Given the description of an element on the screen output the (x, y) to click on. 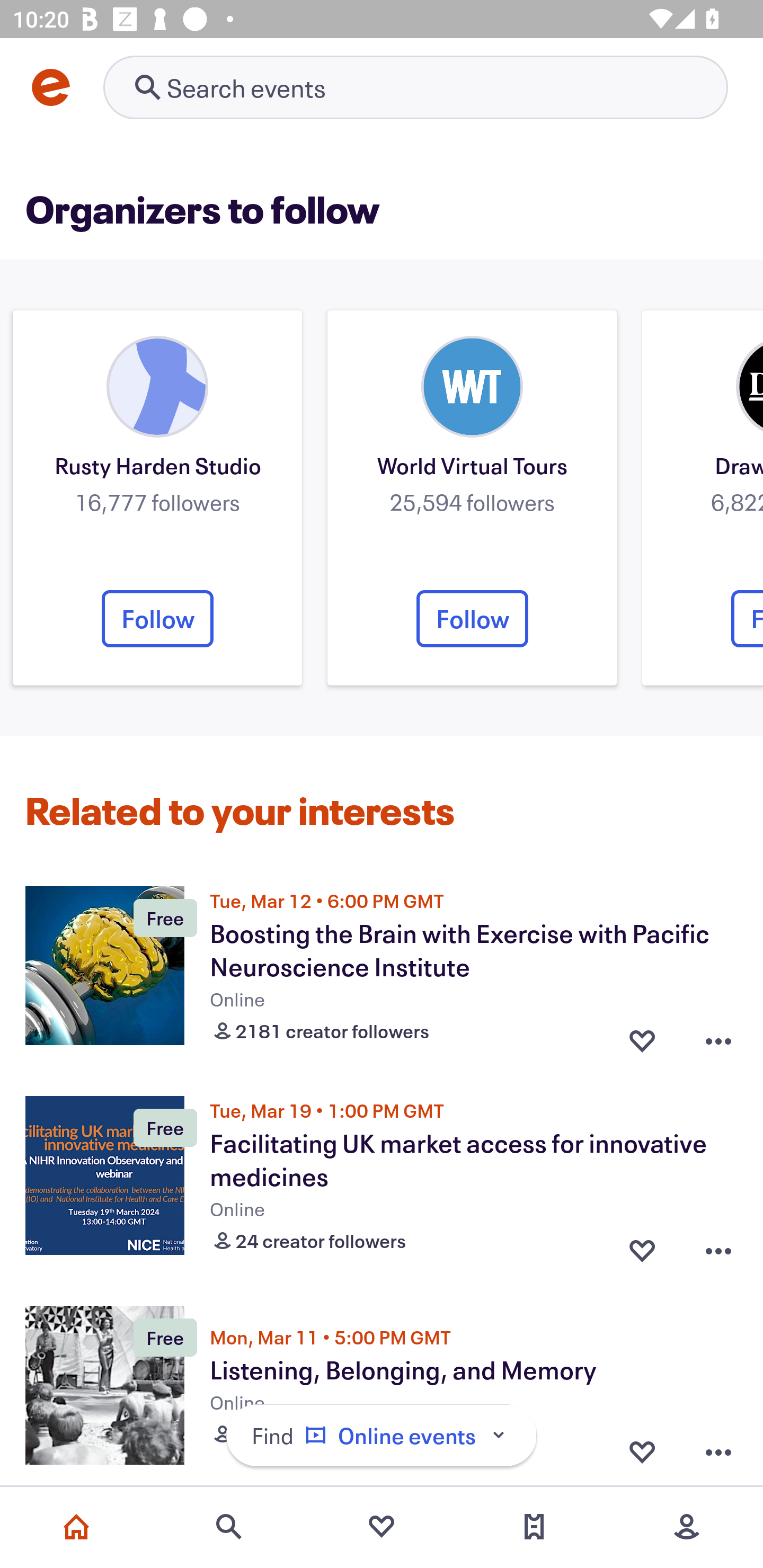
Retry's image Search events (415, 86)
Follow Organizer's follow button (157, 618)
Follow Organizer's follow button (471, 618)
Favorite button (642, 1036)
Overflow menu button (718, 1036)
Favorite button (642, 1247)
Overflow menu button (718, 1247)
Find Online events (381, 1435)
Favorite button (642, 1451)
Overflow menu button (718, 1451)
Home (76, 1526)
Search events (228, 1526)
Favorites (381, 1526)
Tickets (533, 1526)
More (686, 1526)
